Given the description of an element on the screen output the (x, y) to click on. 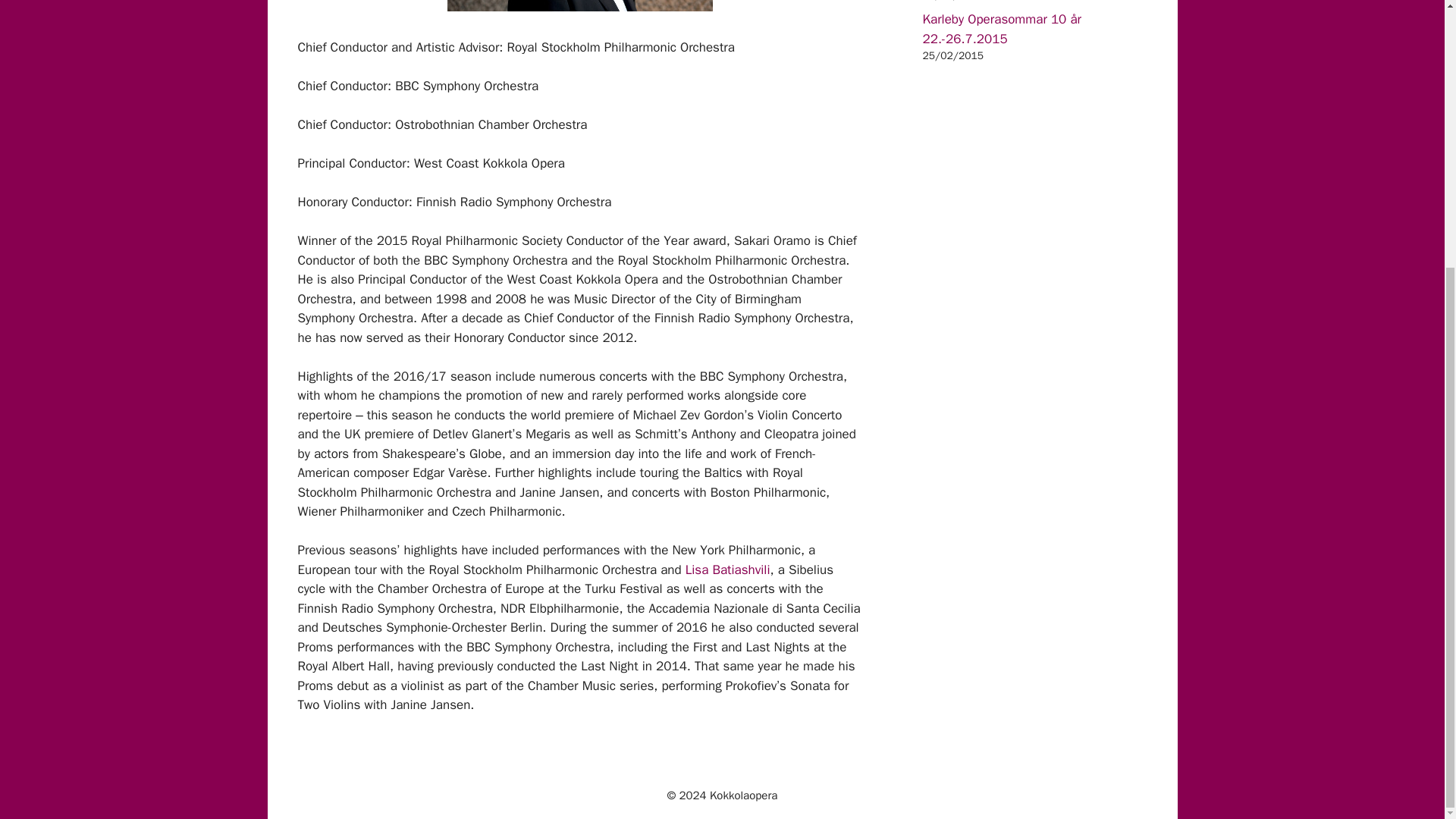
Lisa Batiashvili (727, 569)
Sakari Markus Oramo OBEHarrisonParrott (579, 5)
